Given the description of an element on the screen output the (x, y) to click on. 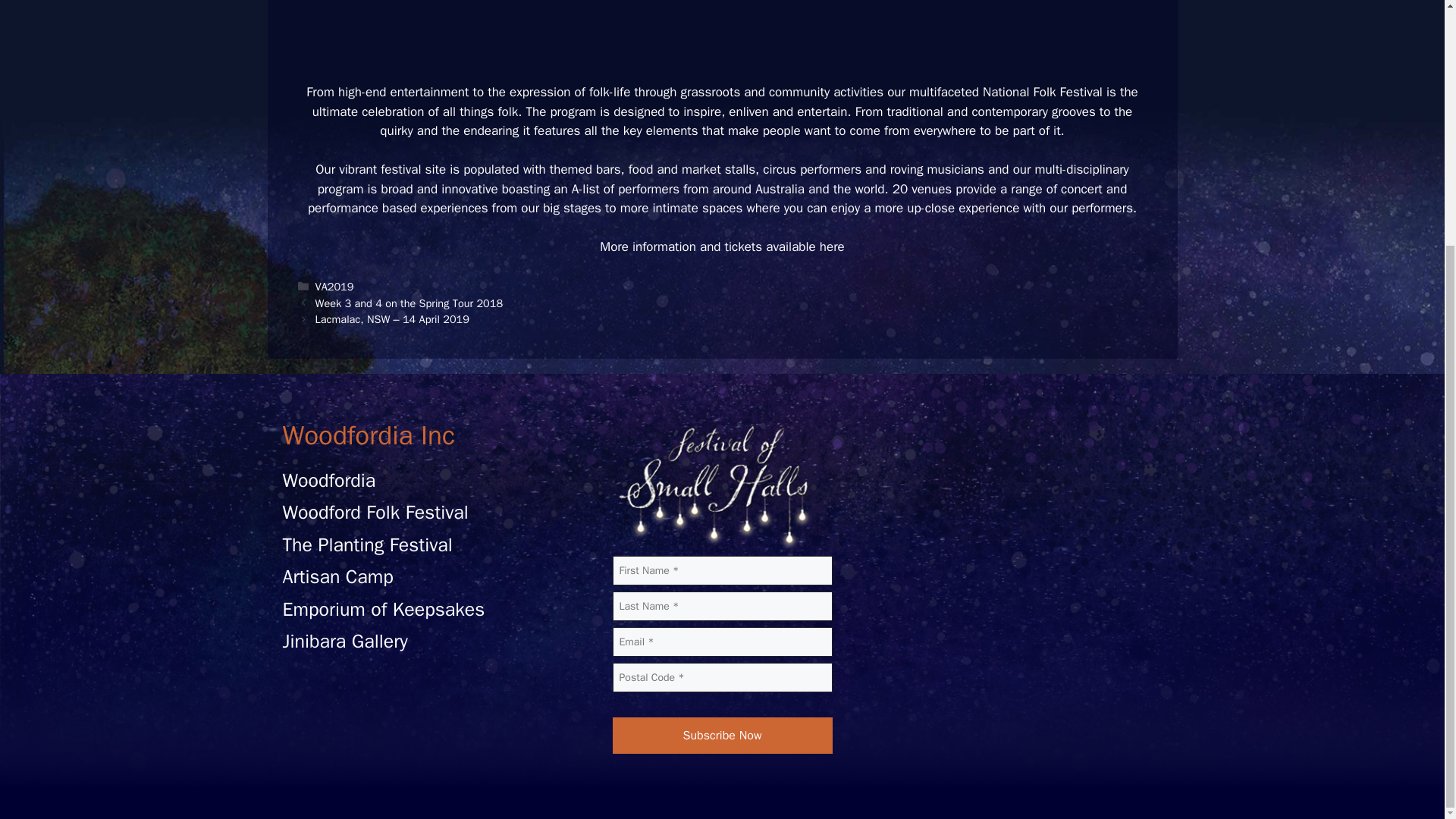
Week 3 and 4 on the Spring Tour 2018 (408, 302)
Artisan Camp (337, 576)
VA2019 (334, 286)
Emporium of Keepsakes (383, 608)
Woodfordia (328, 480)
Woodford Folk Festival (374, 512)
Jinibara Gallery (344, 640)
The Planting Festival (366, 544)
here (831, 246)
Subscribe Now (722, 735)
